Given the description of an element on the screen output the (x, y) to click on. 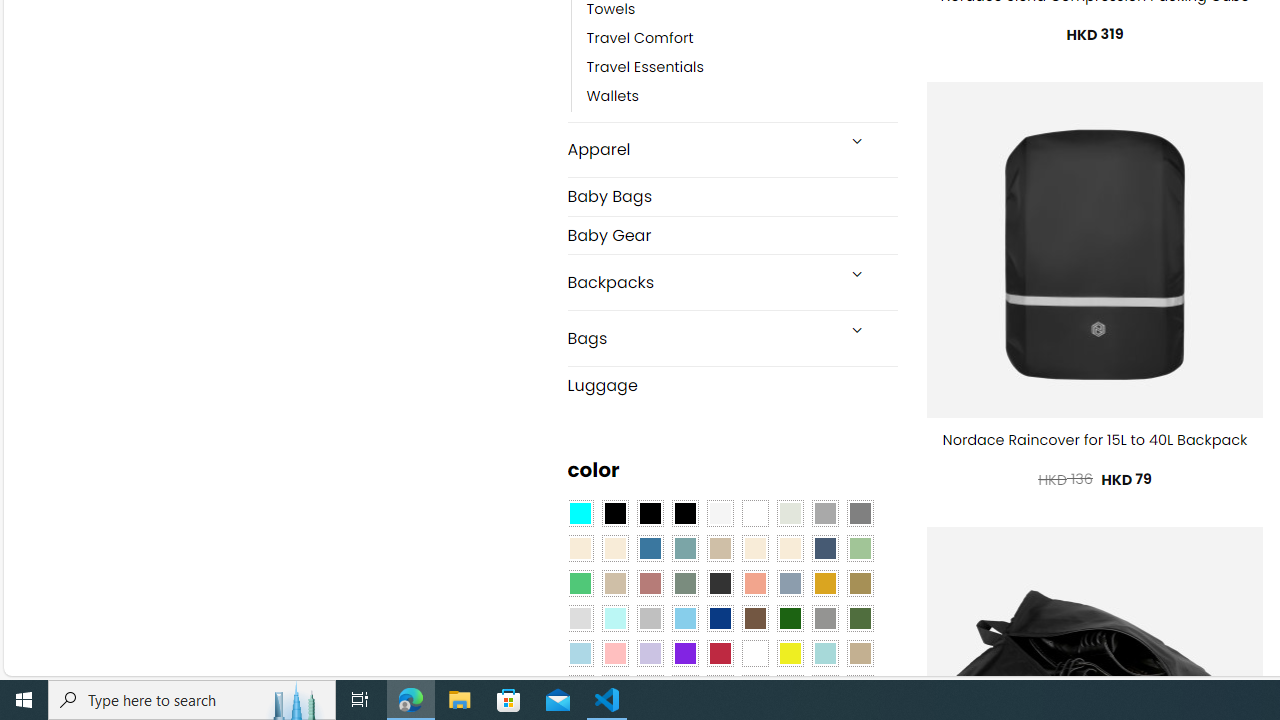
Ash Gray (789, 514)
Beige-Brown (614, 548)
Pink (614, 653)
Dusty Blue (789, 583)
White (755, 653)
Aqua Blue (579, 514)
Dark Green (789, 619)
Rose (650, 583)
Bags (700, 337)
Kelp (859, 583)
Wallets (613, 97)
Travel Comfort (639, 38)
Blue (650, 548)
Light Gray (579, 619)
Charcoal (719, 583)
